Given the description of an element on the screen output the (x, y) to click on. 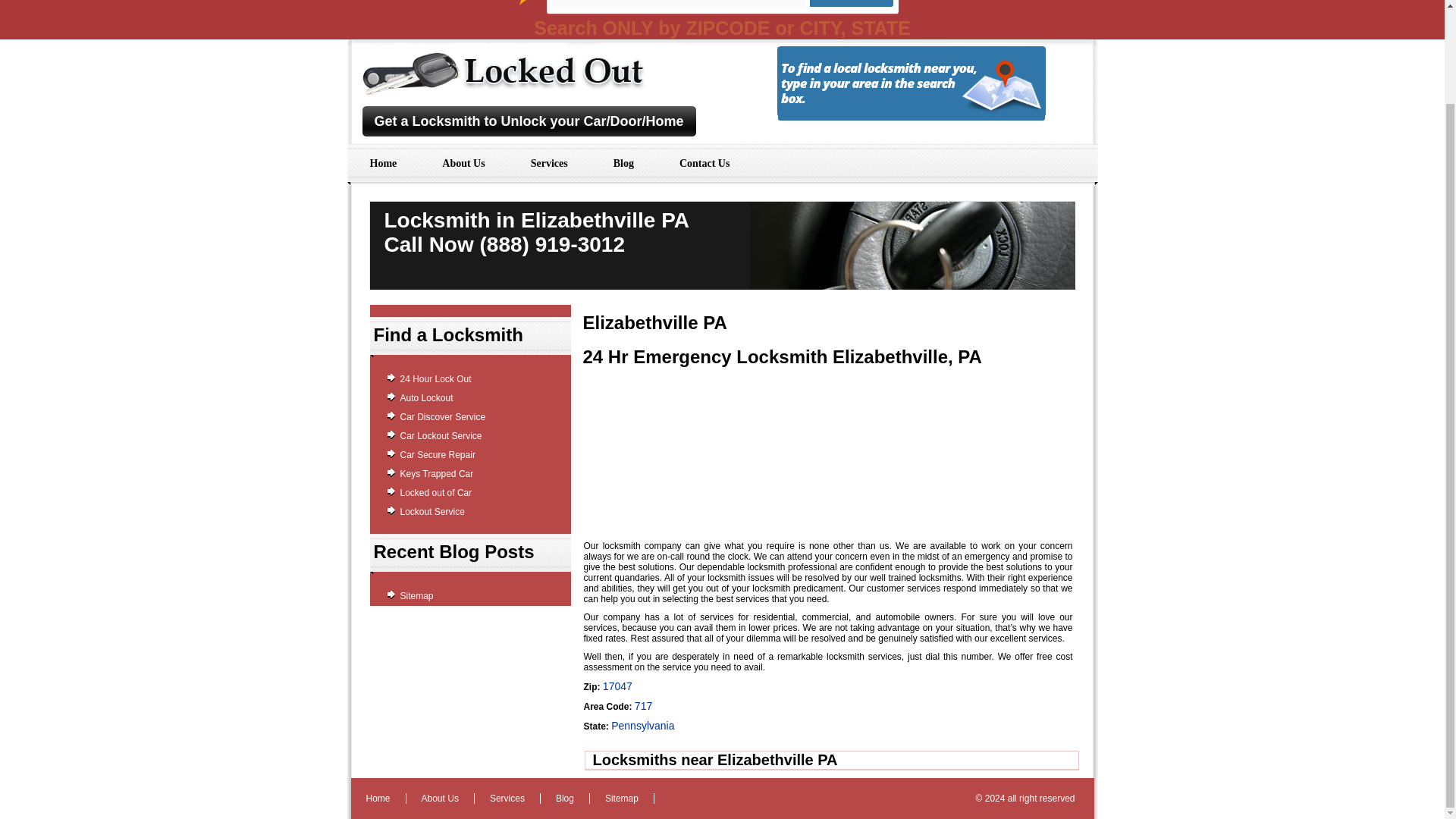
Car Lockout Service (440, 435)
Home (378, 798)
Locked out of Car (435, 492)
About Us (462, 163)
Pennsylvania (642, 725)
24 Hour Lock Out (435, 378)
Blog (564, 798)
Sitemap (416, 595)
Contact Us (704, 163)
Keys Trapped Car (437, 473)
